Given the description of an element on the screen output the (x, y) to click on. 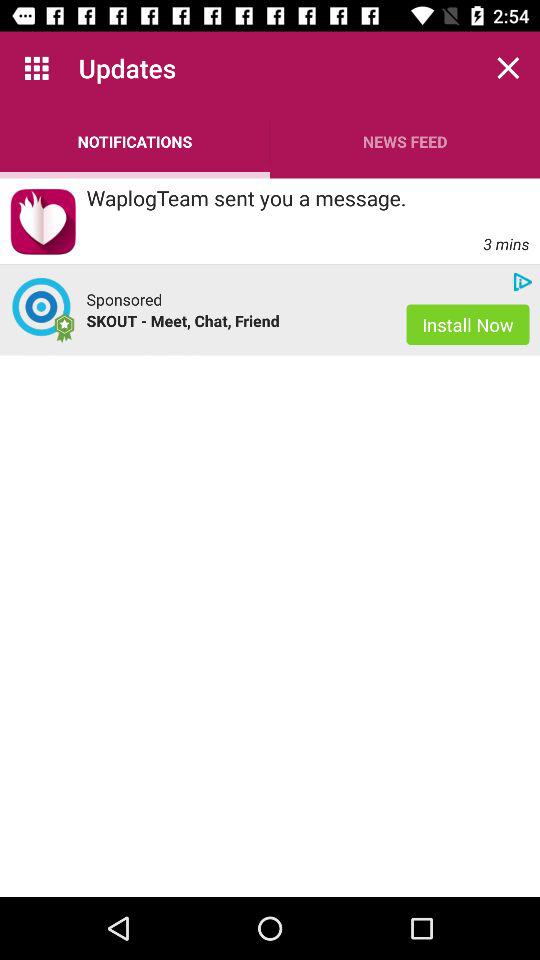
turn off the app to the left of updates item (36, 68)
